Given the description of an element on the screen output the (x, y) to click on. 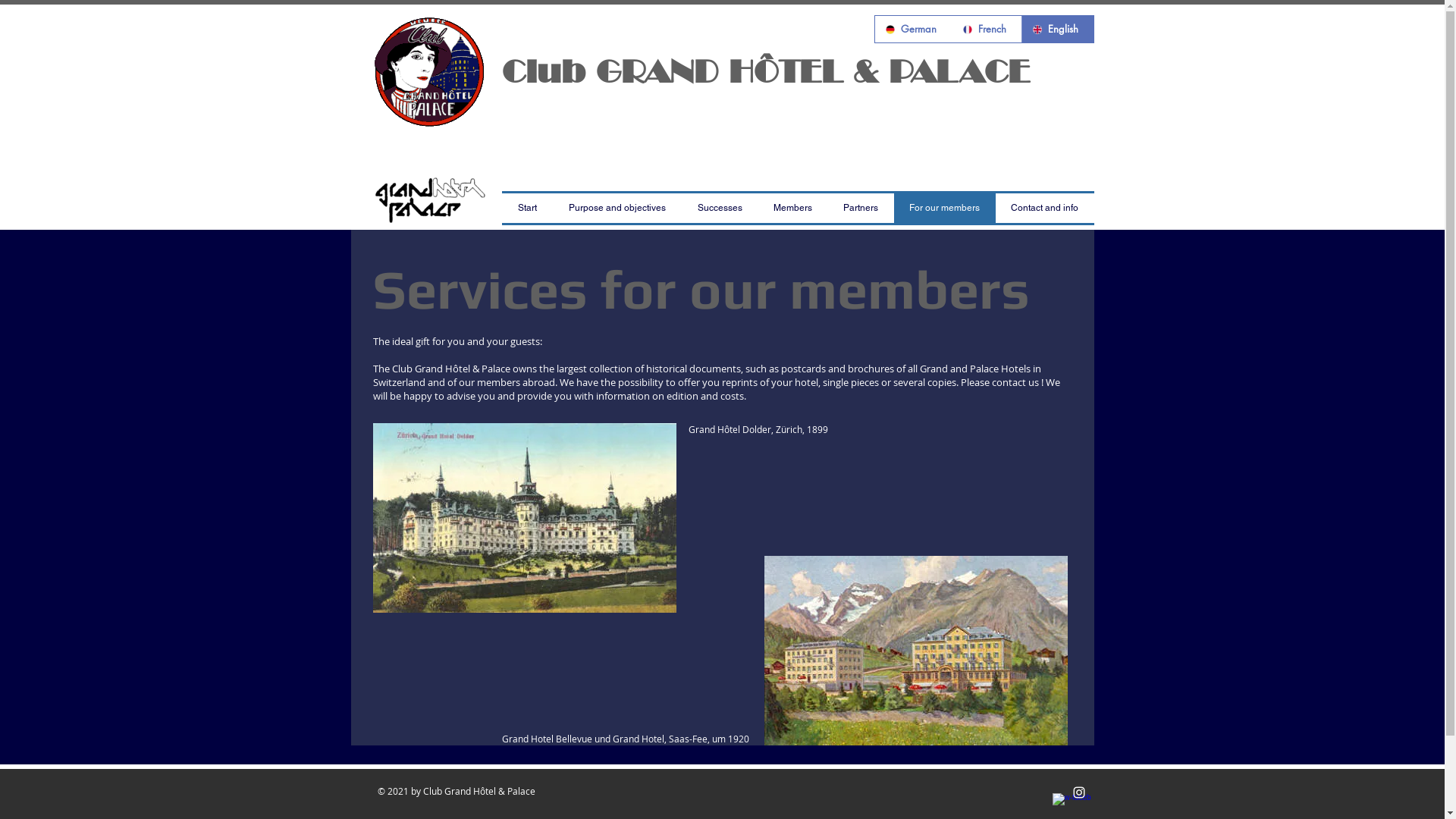
For our members Element type: text (943, 207)
Start Element type: text (527, 207)
Members Element type: text (793, 207)
Successes Element type: text (718, 207)
German Element type: text (913, 28)
Purpose and objectives Element type: text (616, 207)
French Element type: text (985, 28)
Partners Element type: text (861, 207)
kartedolder.jpeg Element type: hover (524, 517)
Contact and info Element type: text (1043, 207)
English Element type: text (1056, 28)
